Given the description of an element on the screen output the (x, y) to click on. 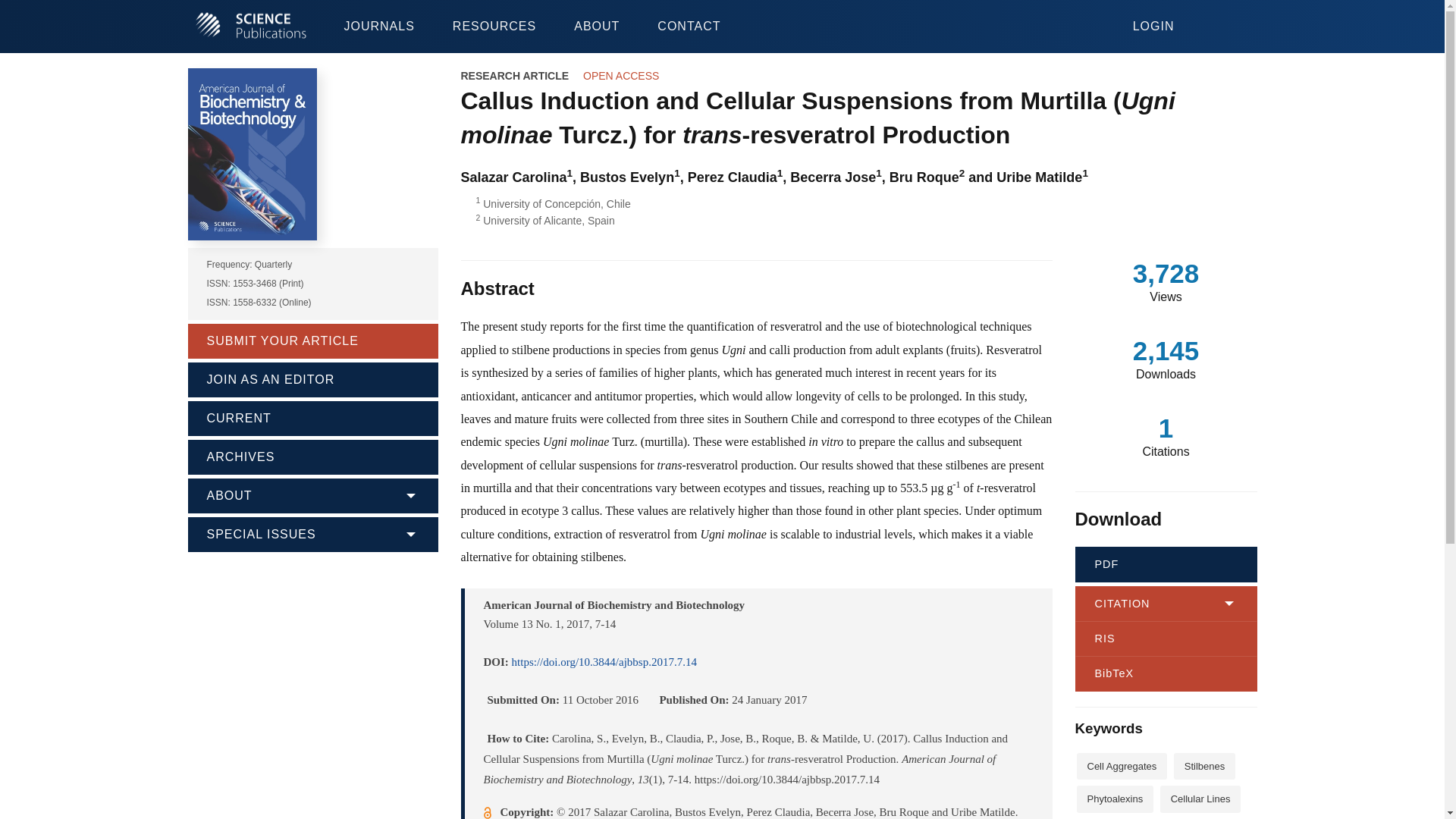
PDF (1166, 564)
SPECIAL ISSUES (312, 532)
JOURNALS (378, 26)
CITATION (1166, 603)
ABOUT (596, 26)
JOIN AS AN EDITOR (312, 377)
CONTACT (689, 26)
LOGIN (1153, 17)
RESOURCES (493, 26)
CURRENT (312, 416)
SUBMIT YOUR ARTICLE (312, 339)
ABOUT (312, 494)
BibTeX (1166, 673)
ARCHIVES (312, 455)
Science Publications (250, 26)
